Given the description of an element on the screen output the (x, y) to click on. 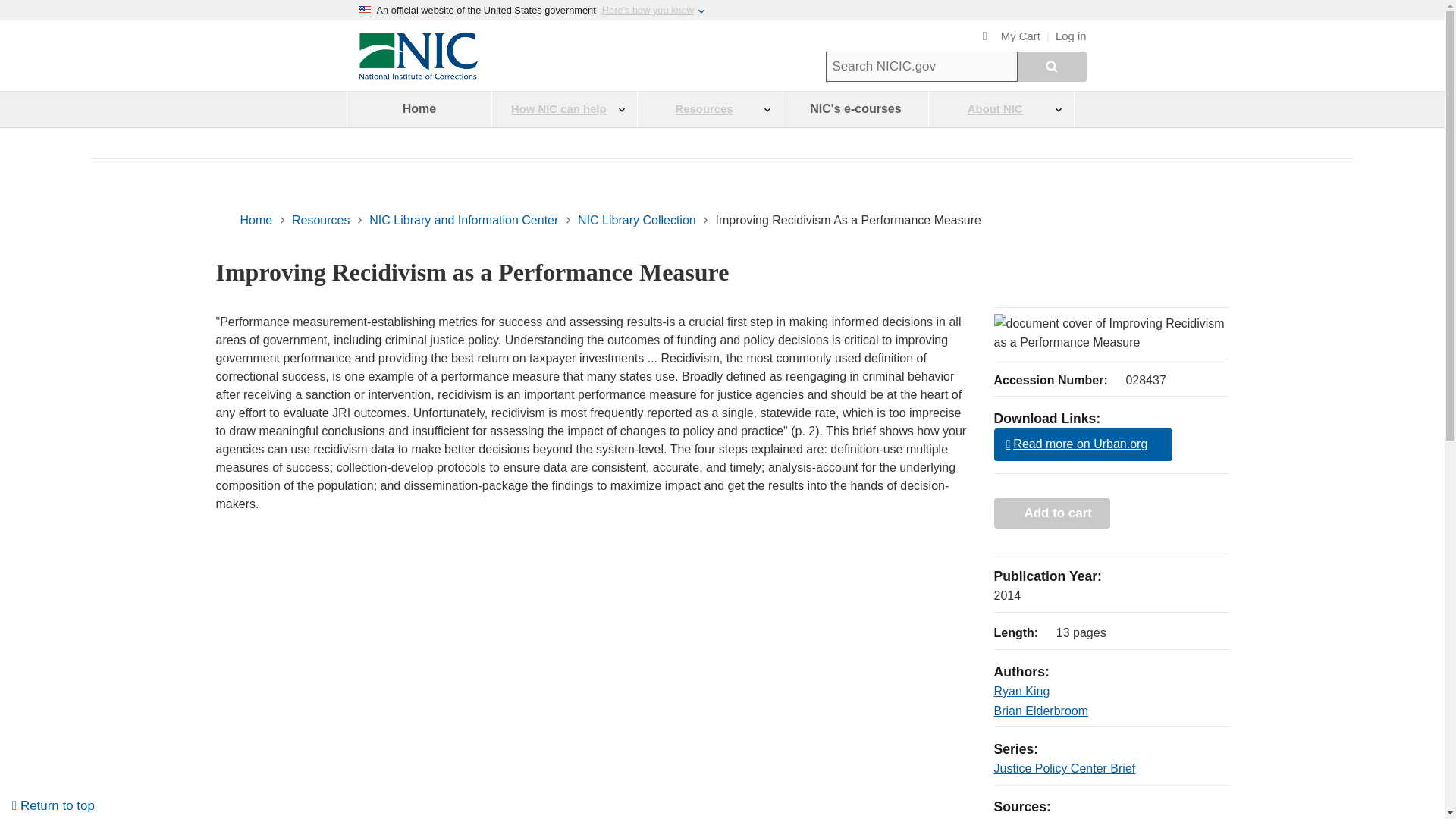
search all NIC websites (1051, 66)
Clicking on this link will take you to the N.I.C. home page (417, 75)
Return to top (52, 805)
Justice Policy Center Brief (1063, 768)
NIC's e-courses (854, 108)
Log in (1070, 36)
Read more on Urban.org (1082, 444)
Brian Elderbroom (1039, 710)
Add to cart (1050, 512)
Here's how you know (648, 9)
NIC Library Collection (636, 219)
About NIC (1001, 108)
Home (419, 108)
Resources (320, 219)
NIC Library and Information Center (463, 219)
